Given the description of an element on the screen output the (x, y) to click on. 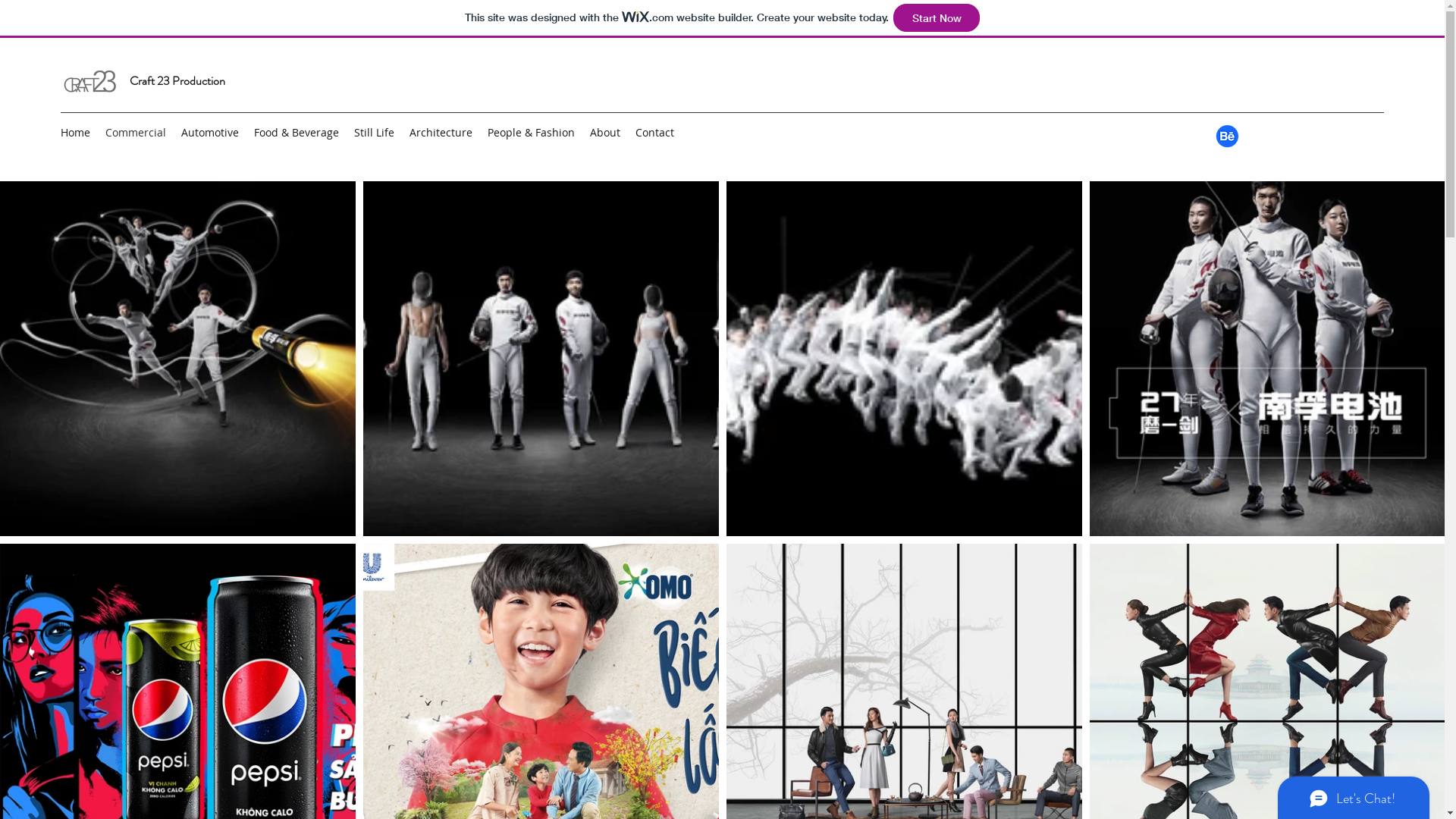
Home Element type: text (75, 132)
Contact Element type: text (654, 132)
People & Fashion Element type: text (531, 132)
Automotive Element type: text (209, 132)
About Element type: text (604, 132)
Still Life Element type: text (373, 132)
Food & Beverage Element type: text (296, 132)
Commercial Element type: text (135, 132)
Architecture Element type: text (440, 132)
